Given the description of an element on the screen output the (x, y) to click on. 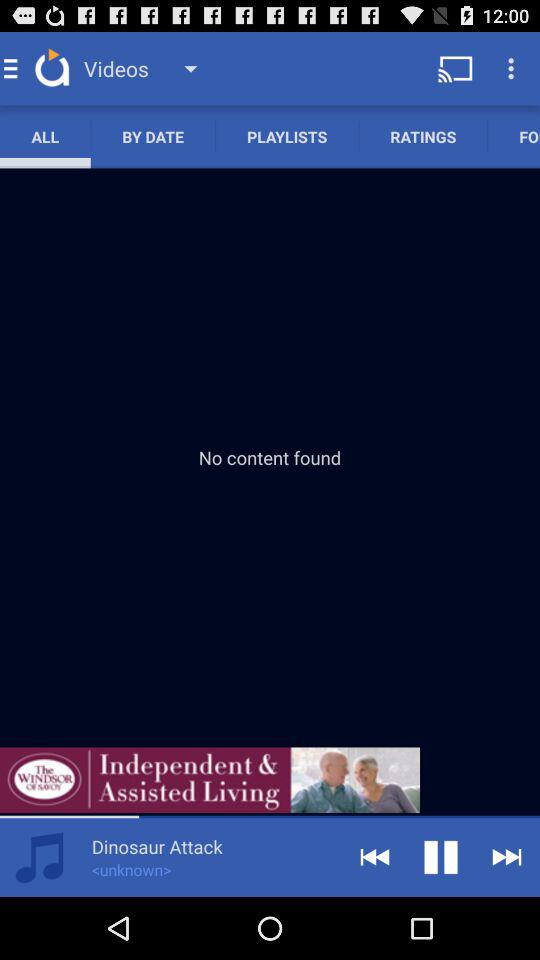
advertisement (210, 780)
